Given the description of an element on the screen output the (x, y) to click on. 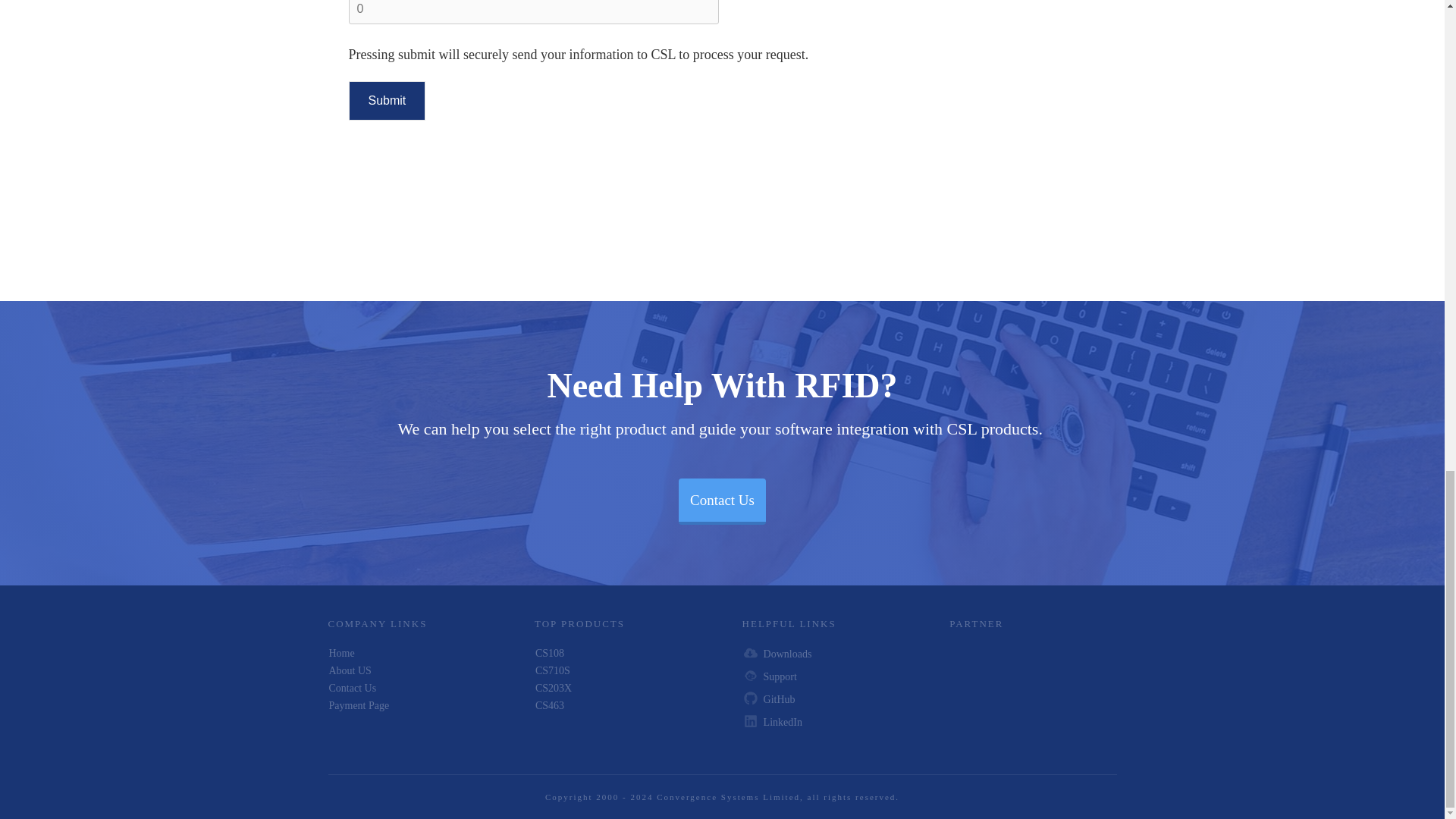
Payment Page (359, 705)
Submit (387, 100)
Contact Us (721, 501)
Impinj Gold Partner (1032, 695)
About US (350, 670)
Submit (387, 100)
CS463 (549, 705)
Home (342, 653)
CS710S (552, 670)
GitHub (778, 699)
Support (779, 676)
CS108 (549, 653)
CS203X (553, 687)
Contact Us (353, 687)
Downloads (787, 654)
